Given the description of an element on the screen output the (x, y) to click on. 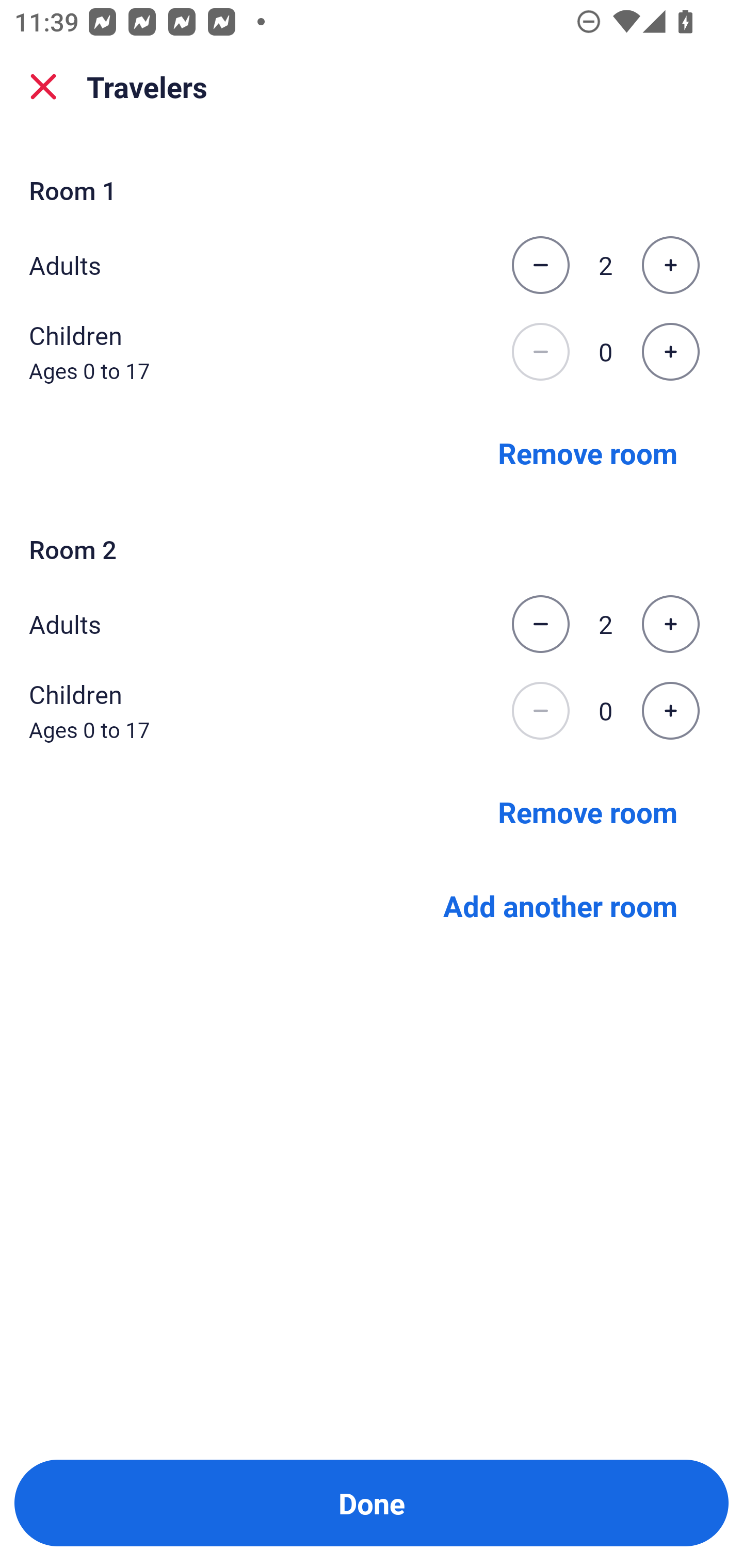
close (43, 86)
Decrease the number of adults (540, 264)
Increase the number of adults (670, 264)
Decrease the number of children (540, 351)
Increase the number of children (670, 351)
Remove room (588, 452)
Decrease the number of adults (540, 623)
Increase the number of adults (670, 623)
Decrease the number of children (540, 710)
Increase the number of children (670, 710)
Remove room (588, 811)
Add another room (560, 905)
Done (371, 1502)
